Given the description of an element on the screen output the (x, y) to click on. 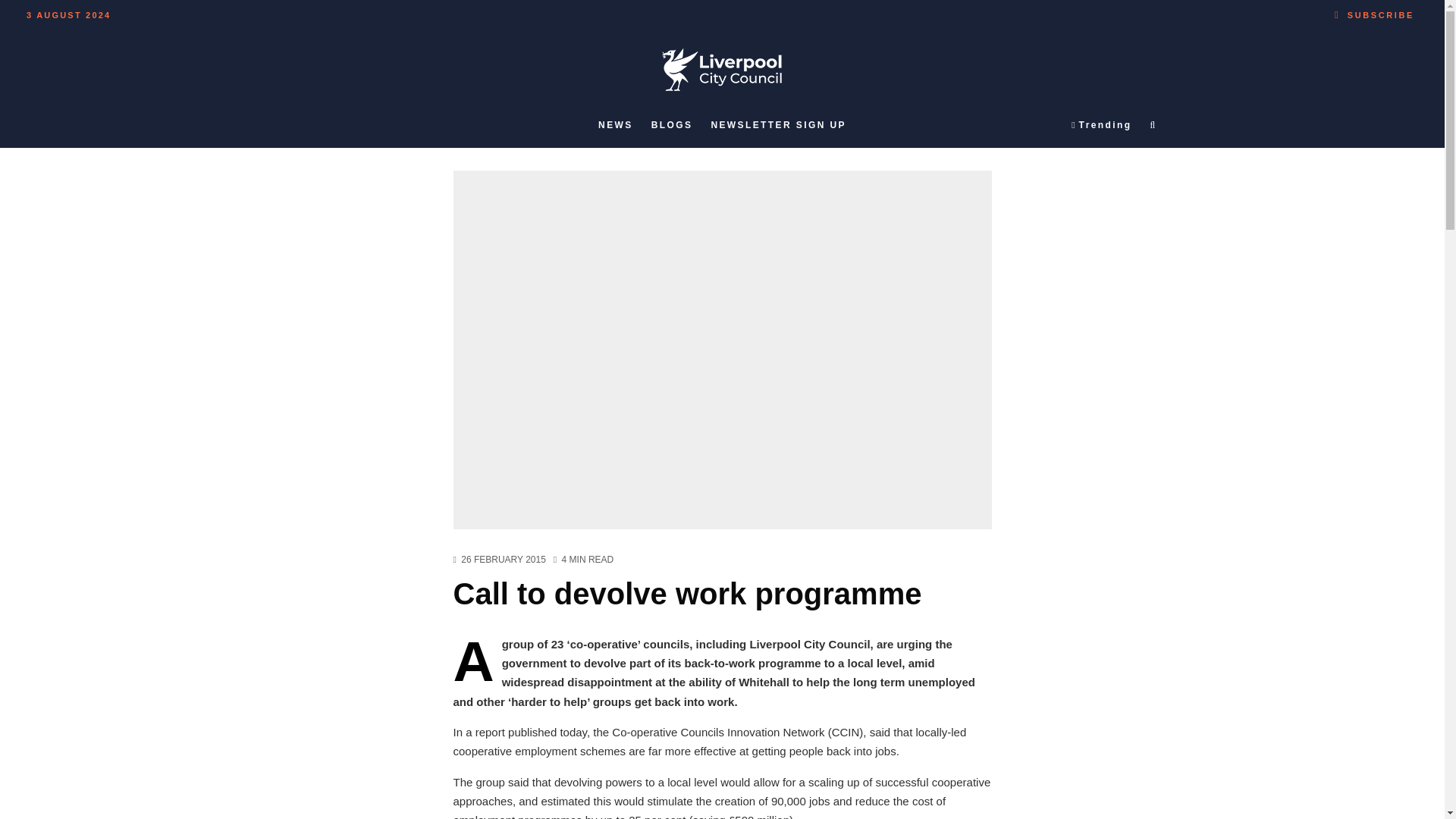
NEWSLETTER SIGN UP (778, 125)
NEWS (615, 125)
BLOGS (671, 125)
SUBSCRIBE (1374, 11)
Trending (1101, 125)
